Given the description of an element on the screen output the (x, y) to click on. 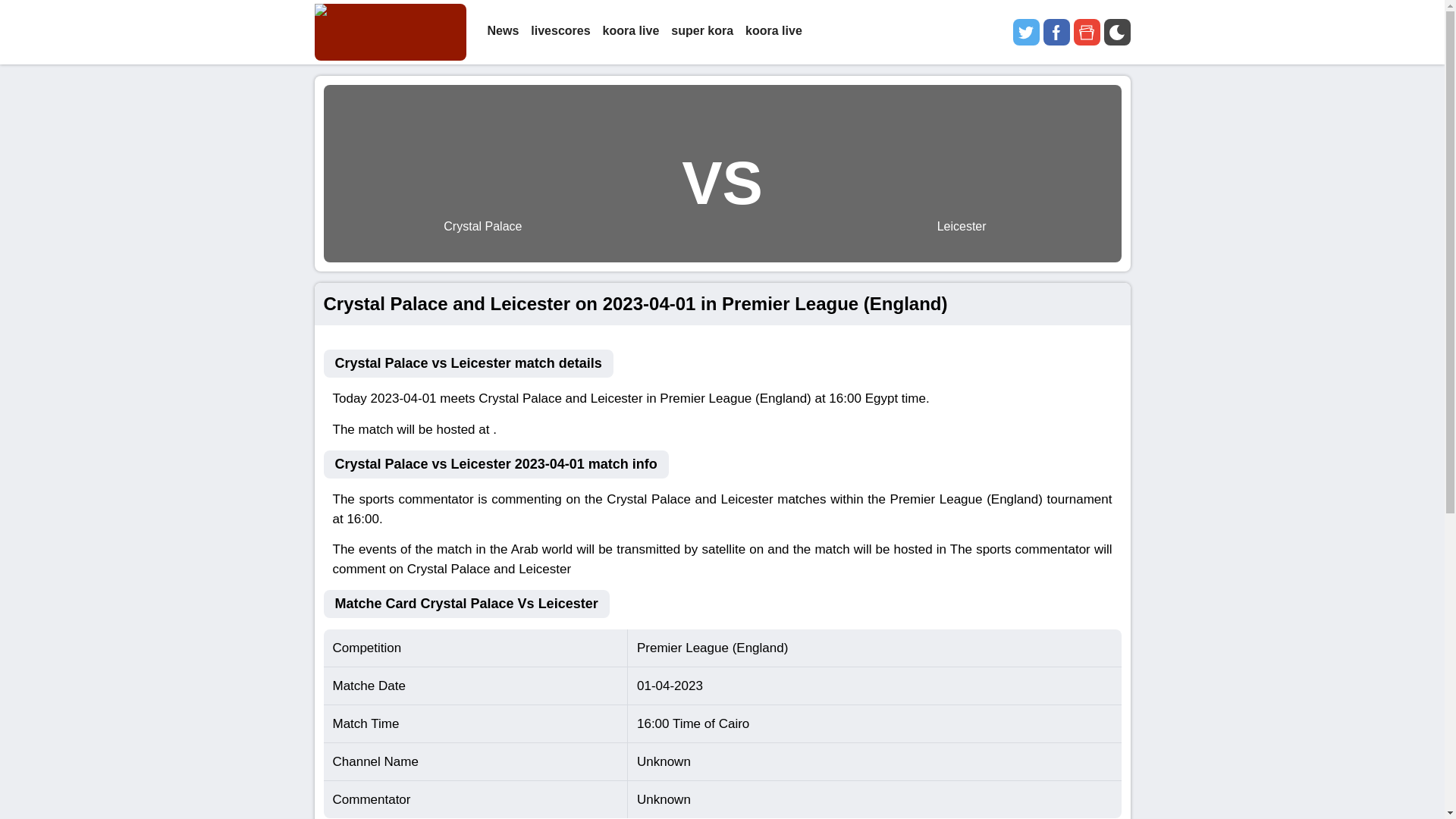
super kora (702, 31)
koora live (630, 31)
livescores (559, 31)
as goal English free Live Streaming kooralive (389, 32)
koora live (773, 31)
